Given the description of an element on the screen output the (x, y) to click on. 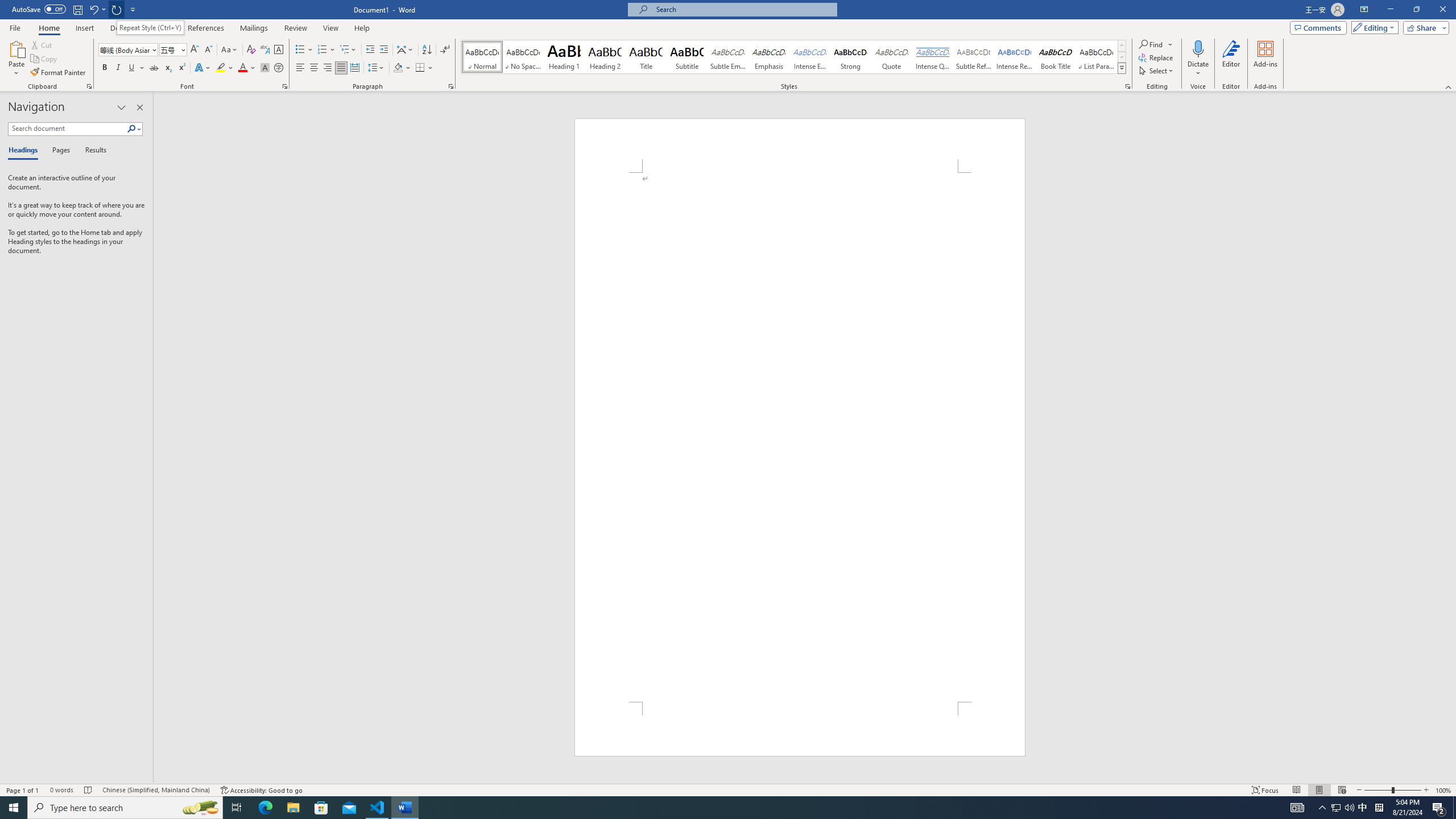
Copy (45, 58)
Find (1151, 44)
Intense Reference (1014, 56)
Undo Style (92, 9)
Restore Down (1416, 9)
Subscript (167, 67)
Font (124, 49)
Web Layout (1342, 790)
Emphasis (768, 56)
Zoom In (1426, 790)
Paste (16, 48)
Font Size (169, 49)
Clear Formatting (250, 49)
Search (133, 128)
Enclose Characters... (278, 67)
